Given the description of an element on the screen output the (x, y) to click on. 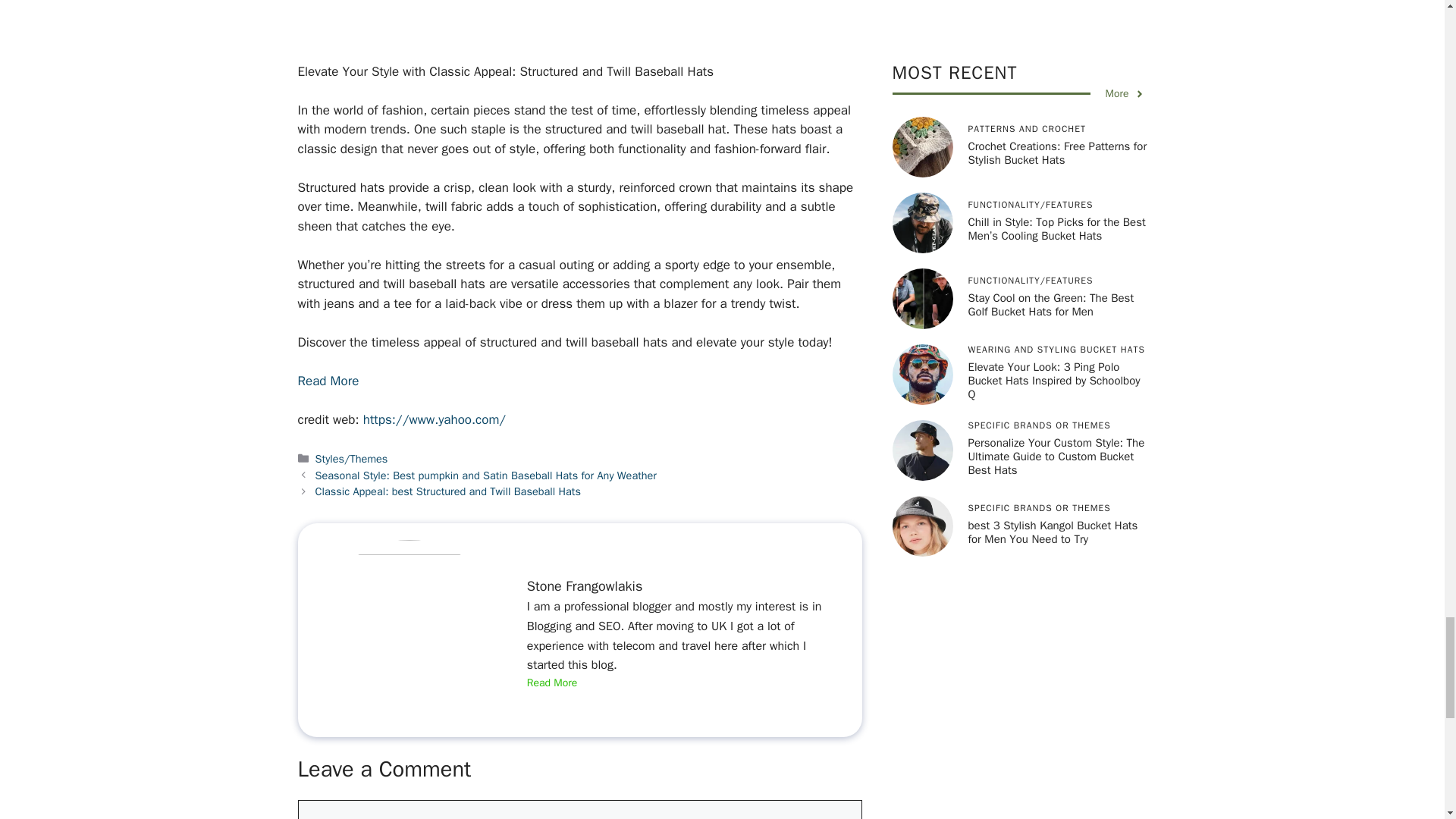
Read More (552, 682)
Read More (327, 381)
Classic Appeal: best Structured and Twill Baseball Hats (447, 490)
